Given the description of an element on the screen output the (x, y) to click on. 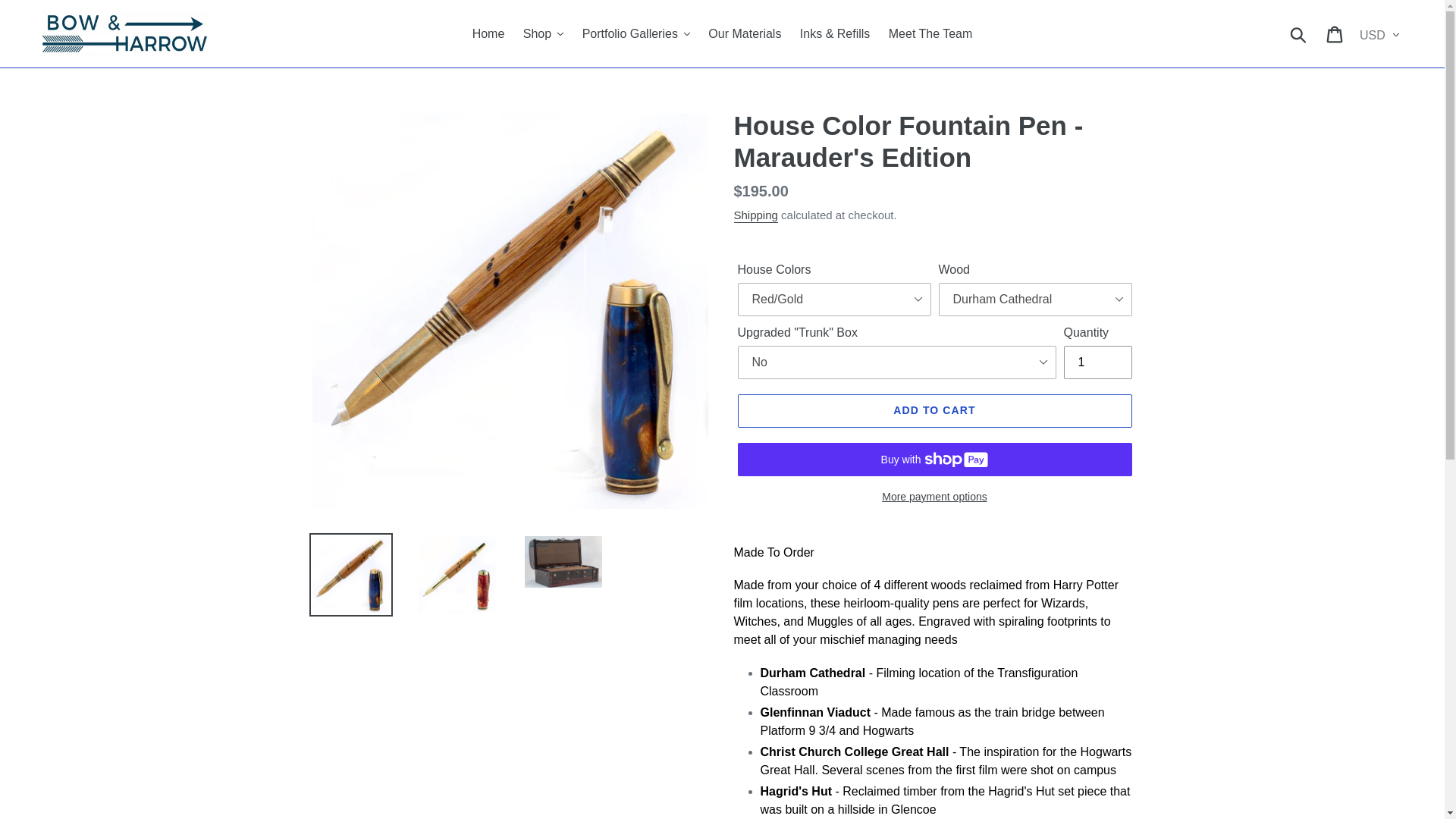
Home (488, 33)
Submit (1299, 32)
Our Materials (744, 33)
1 (1096, 362)
Meet The Team (929, 33)
